Given the description of an element on the screen output the (x, y) to click on. 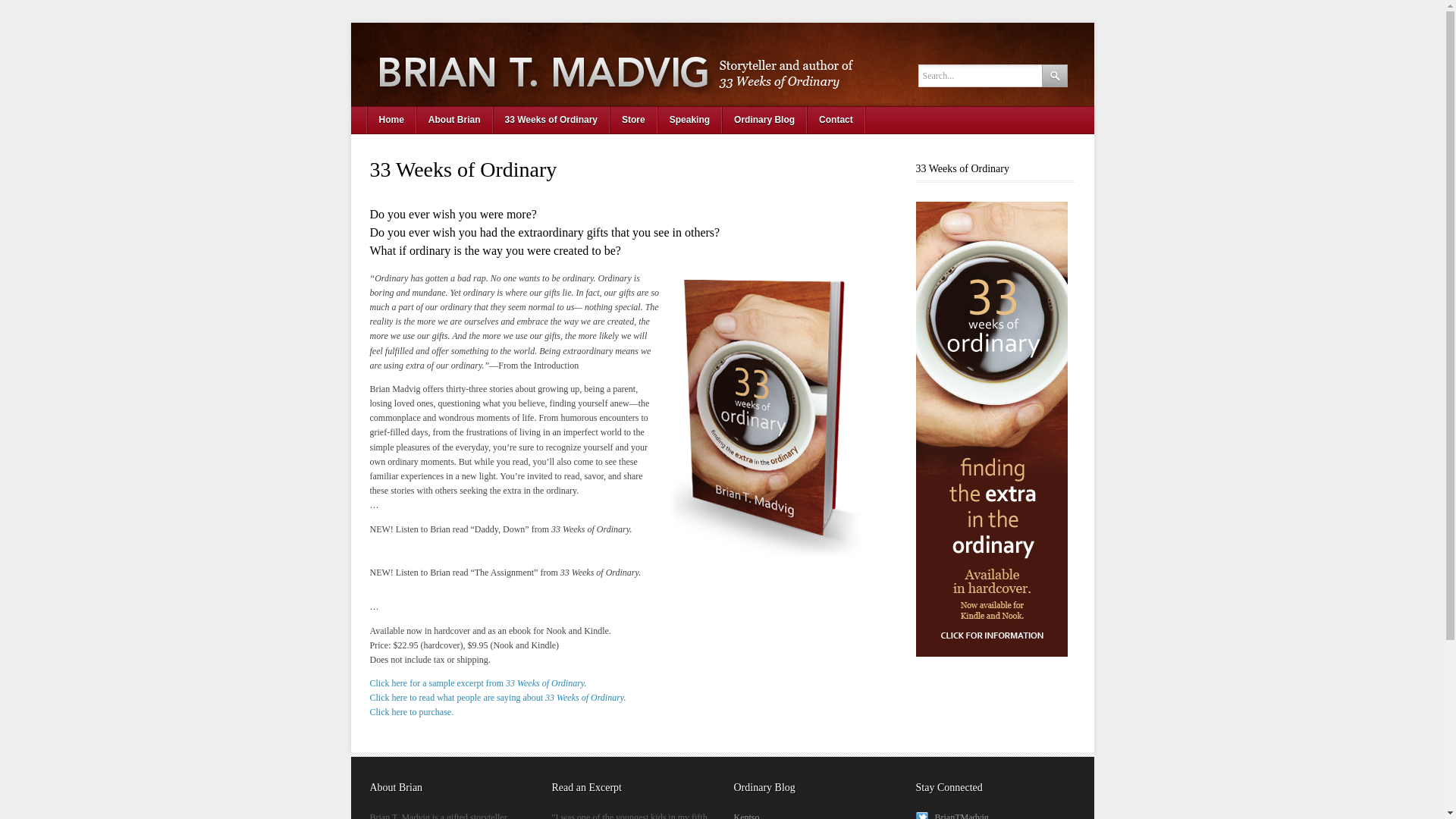
What People Are Saying (497, 697)
Search... (992, 75)
Sample Chapter (477, 683)
Buy Now (411, 711)
Contact (835, 120)
Ordinary Blog (764, 120)
Home (391, 120)
Speaking (690, 120)
33 Weeks of Ordinary (551, 120)
BrianTMadvig (951, 815)
BrianTMadvig (951, 815)
Click here to purchase. (411, 711)
Kentso (746, 815)
About Brian (454, 120)
Click here for a sample excerpt from 33 Weeks of Ordinary. (477, 683)
